Given the description of an element on the screen output the (x, y) to click on. 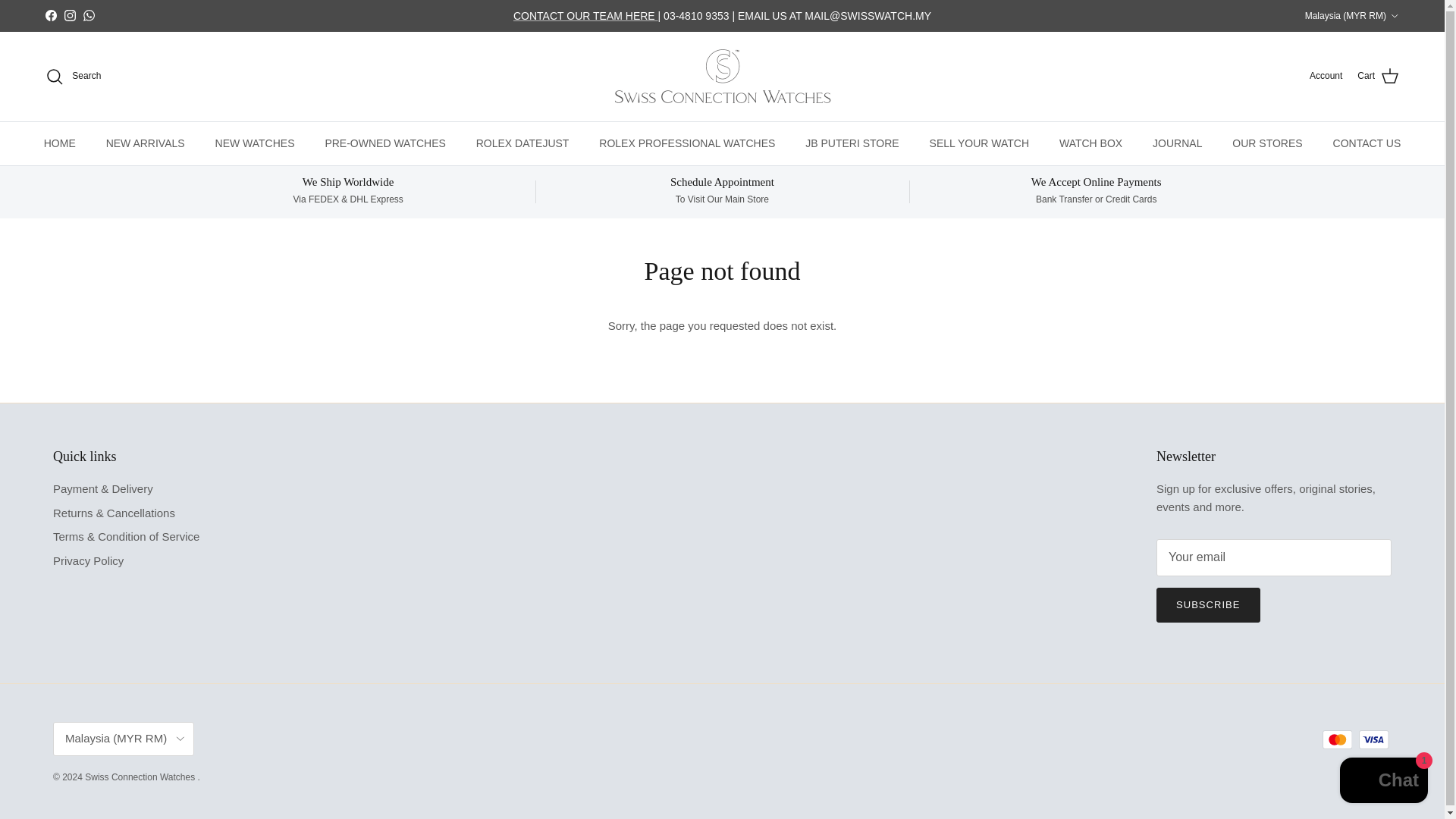
SELL YOUR WATCH (978, 143)
Search (72, 76)
NEW ARRIVALS (145, 143)
Account (1325, 75)
Shopify online store chat (1383, 781)
CONTACT US (1367, 143)
CONTACT OUR TEAM HERE (585, 15)
Swiss Connection Watches  on WhatsApp (88, 15)
OUR STORES (1267, 143)
JB PUTERI STORE (852, 143)
Swiss Connection Watches  on Facebook (50, 15)
ROLEX DATEJUST (523, 143)
PRE-OWNED WATCHES (384, 143)
JOURNAL (1176, 143)
NEW WATCHES (255, 143)
